Given the description of an element on the screen output the (x, y) to click on. 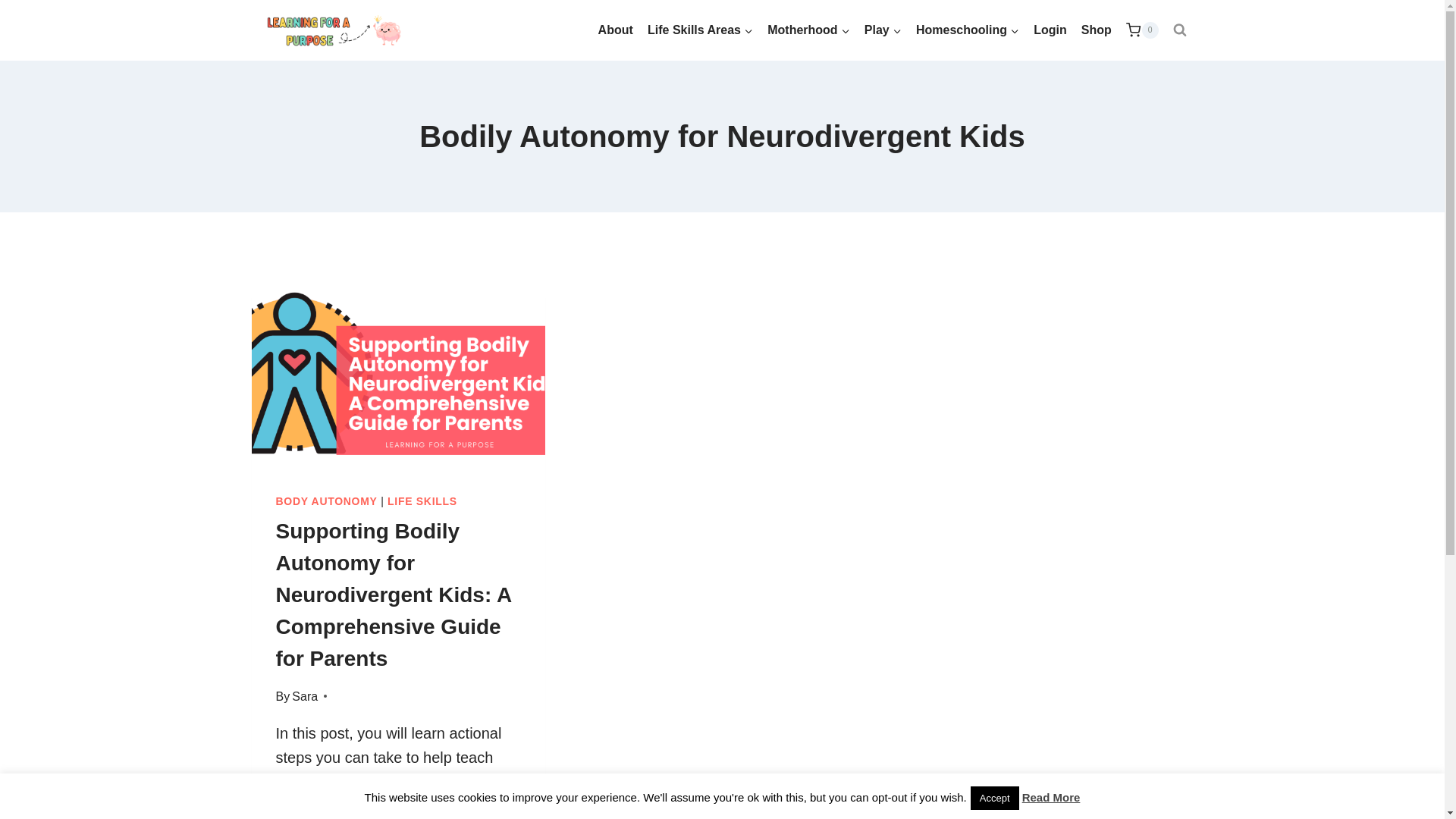
Motherhood (808, 30)
Life Skills Areas (700, 30)
About (615, 30)
